Given the description of an element on the screen output the (x, y) to click on. 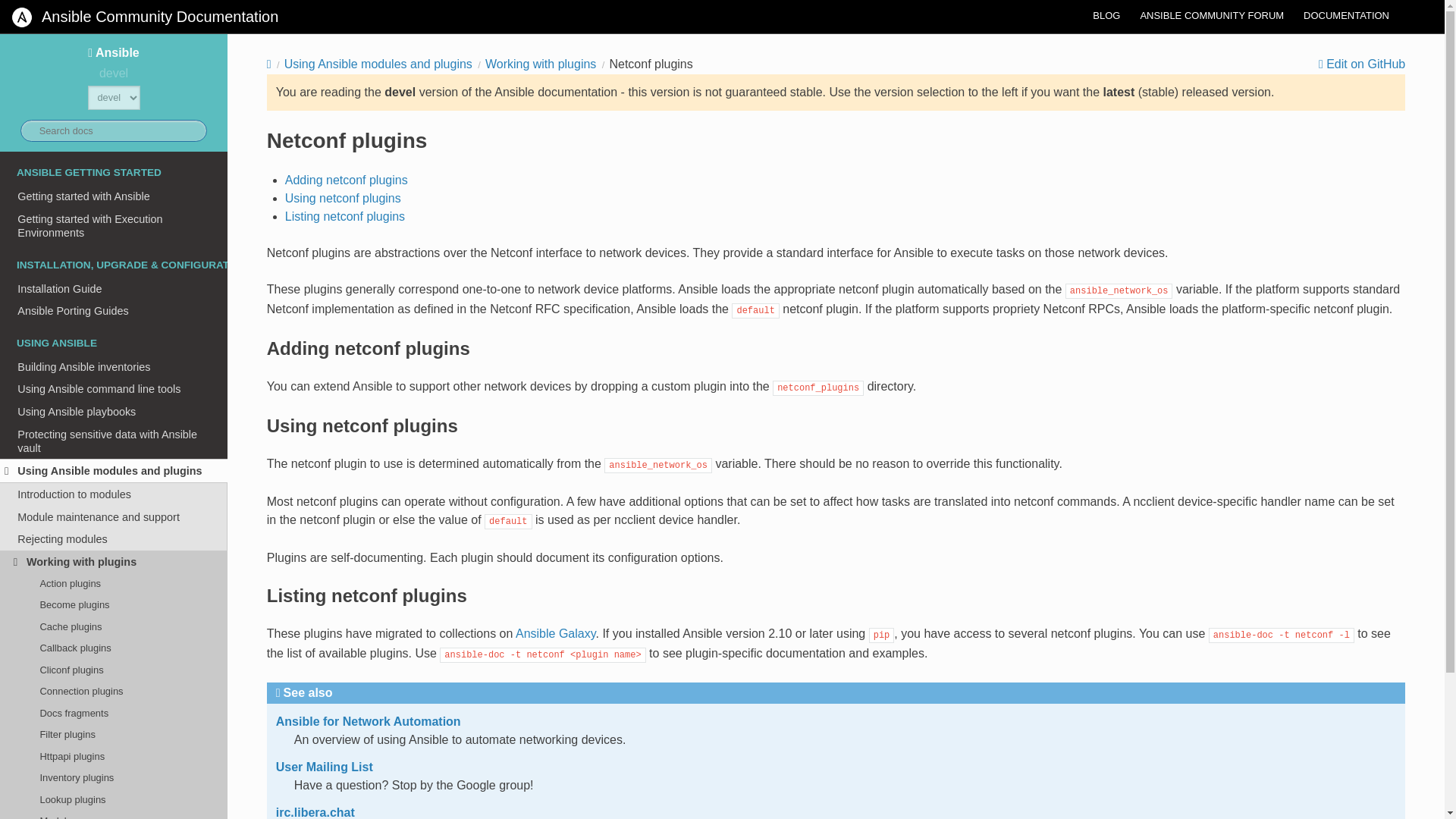
Building Ansible inventories (113, 366)
Callback plugins (113, 648)
Protecting sensitive data with Ansible vault (113, 441)
Getting started with Execution Environments (113, 226)
Using Ansible command line tools (113, 389)
Inventory plugins (113, 777)
BLOG (1106, 15)
Rejecting modules (113, 538)
DOCUMENTATION (1346, 15)
Introduction to modules (113, 494)
